Given the description of an element on the screen output the (x, y) to click on. 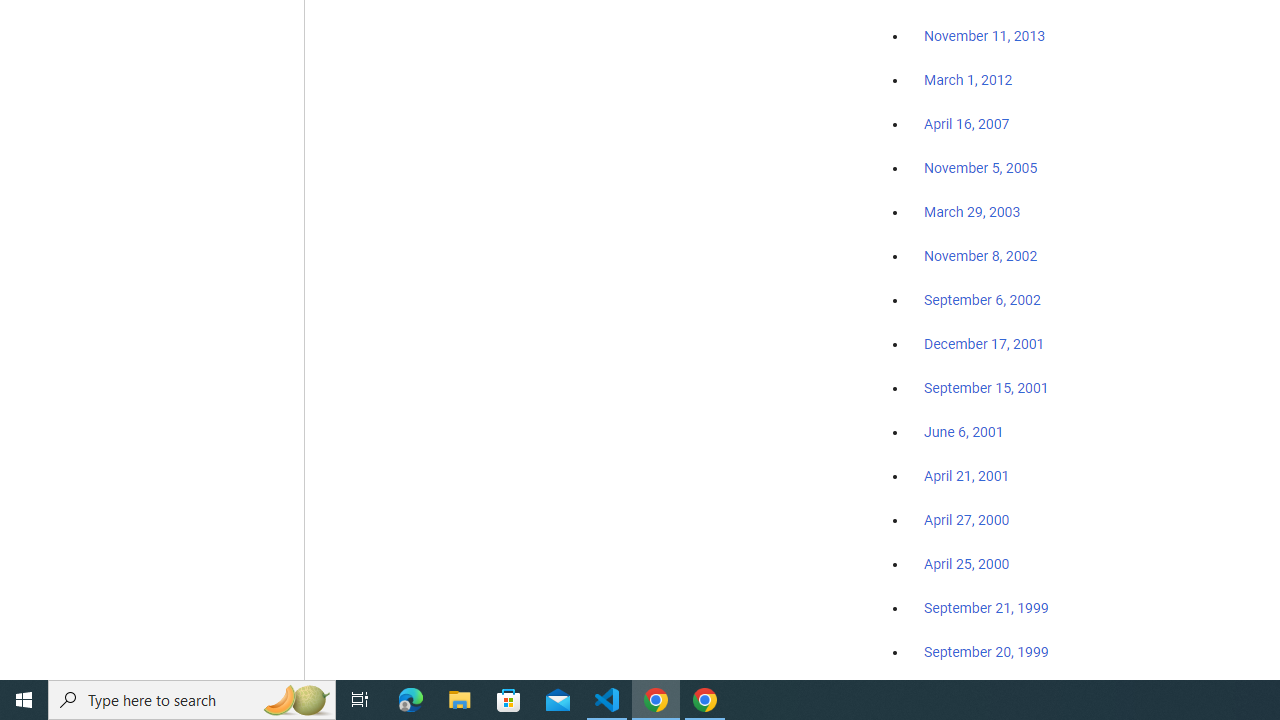
November 5, 2005 (981, 168)
April 27, 2000 (966, 520)
September 15, 2001 (986, 387)
December 17, 2001 (984, 343)
September 20, 1999 (986, 651)
September 21, 1999 (986, 608)
June 6, 2001 (963, 431)
November 8, 2002 (981, 255)
September 6, 2002 (982, 299)
November 11, 2013 (984, 37)
April 21, 2001 (966, 476)
March 29, 2003 (972, 212)
April 25, 2000 (966, 564)
March 1, 2012 (968, 81)
April 16, 2007 (966, 124)
